Given the description of an element on the screen output the (x, y) to click on. 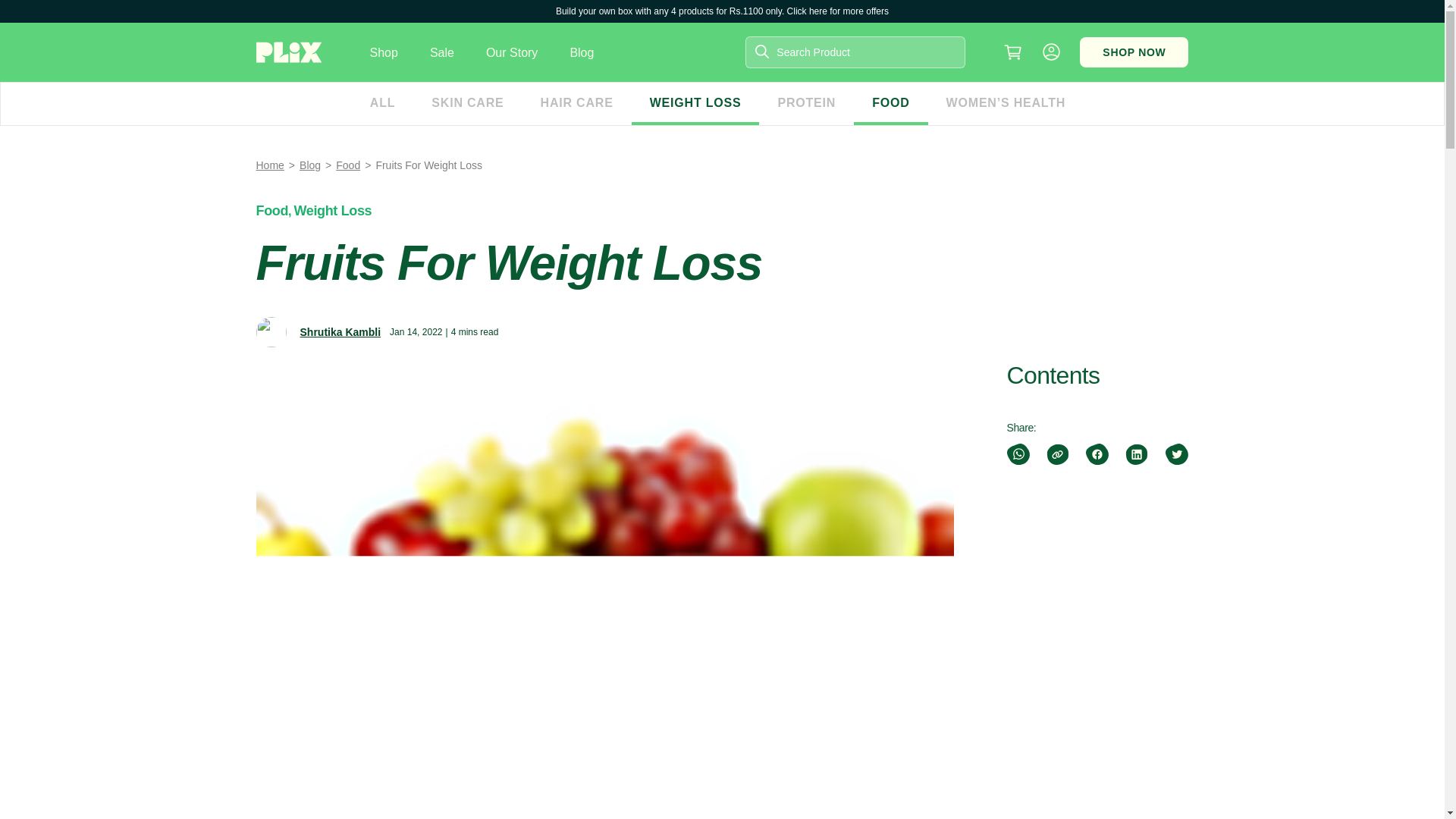
Weight Loss (333, 210)
Home (269, 164)
twitter (1175, 454)
Blog (581, 51)
SHOP NOW (1134, 51)
SKIN CARE (467, 103)
Food (347, 164)
Blog (309, 164)
WEIGHT LOSS (695, 103)
FOOD (890, 103)
Food (272, 210)
linkedin (1136, 454)
ALL (382, 103)
Our Story (511, 51)
HAIR CARE (576, 103)
